Given the description of an element on the screen output the (x, y) to click on. 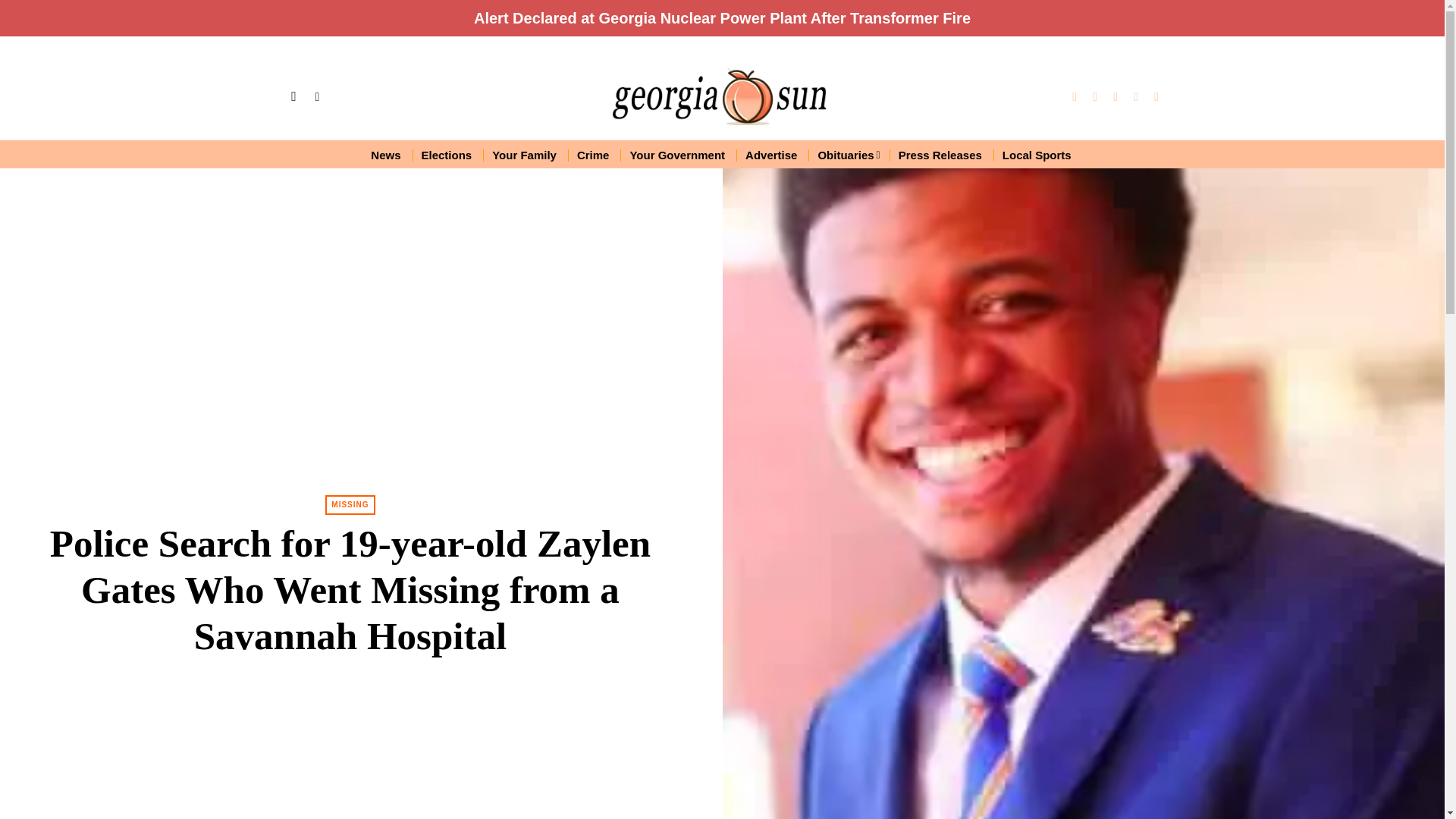
Your Family (525, 155)
Press Releases (940, 155)
Local Sports (1037, 155)
Your Government (678, 155)
Advertise (772, 155)
Elections (447, 155)
Obituaries (848, 155)
Crime (594, 155)
MISSING (349, 505)
